Given the description of an element on the screen output the (x, y) to click on. 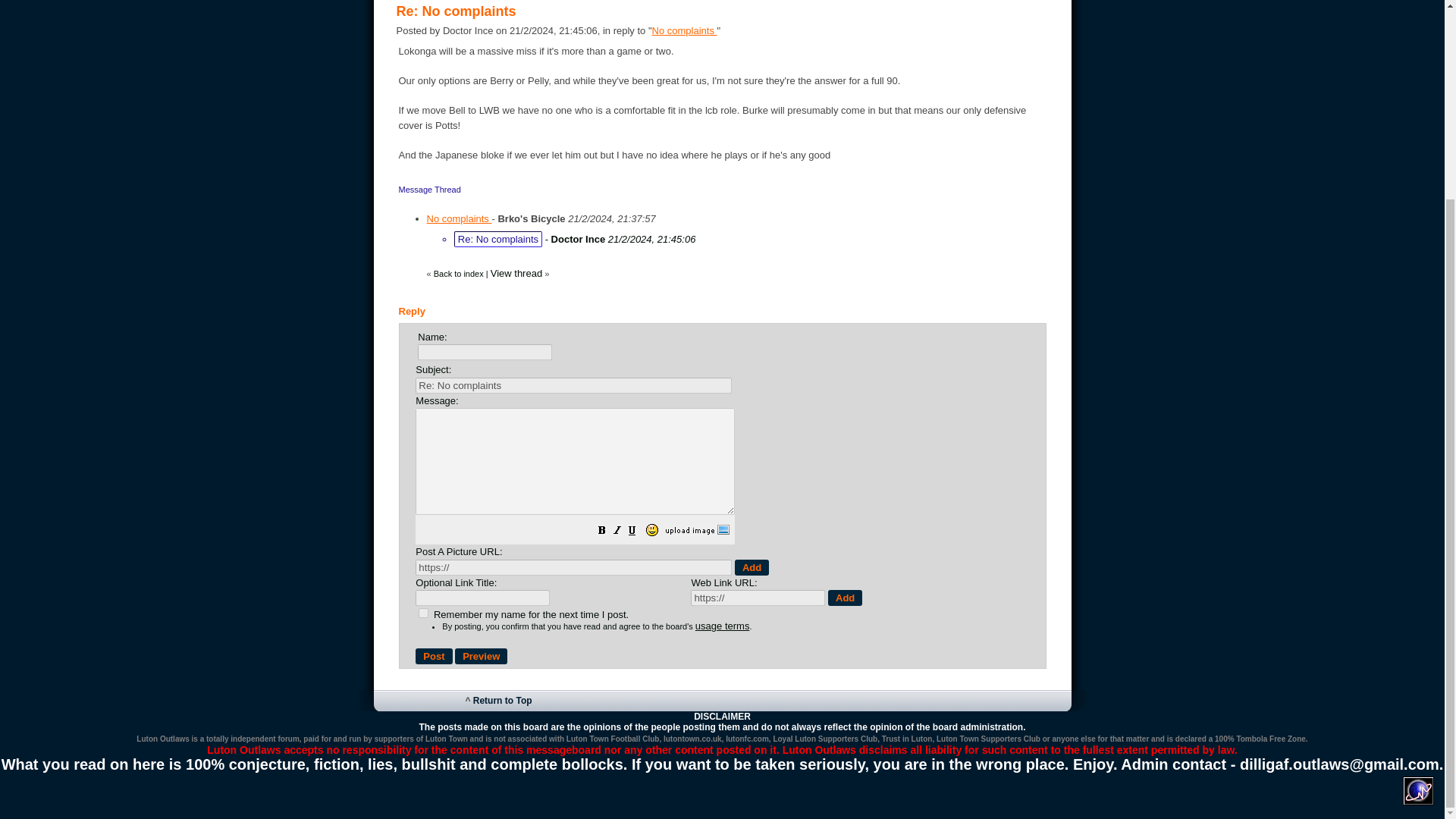
Add (844, 597)
No complaints (684, 30)
Preview (480, 656)
Re: No complaints  (573, 385)
Upload Image (696, 531)
No complaints (459, 218)
View thread (515, 272)
Message Thread (429, 188)
Back to index (458, 272)
Add (751, 567)
1 (423, 613)
Post (432, 656)
